Given the description of an element on the screen output the (x, y) to click on. 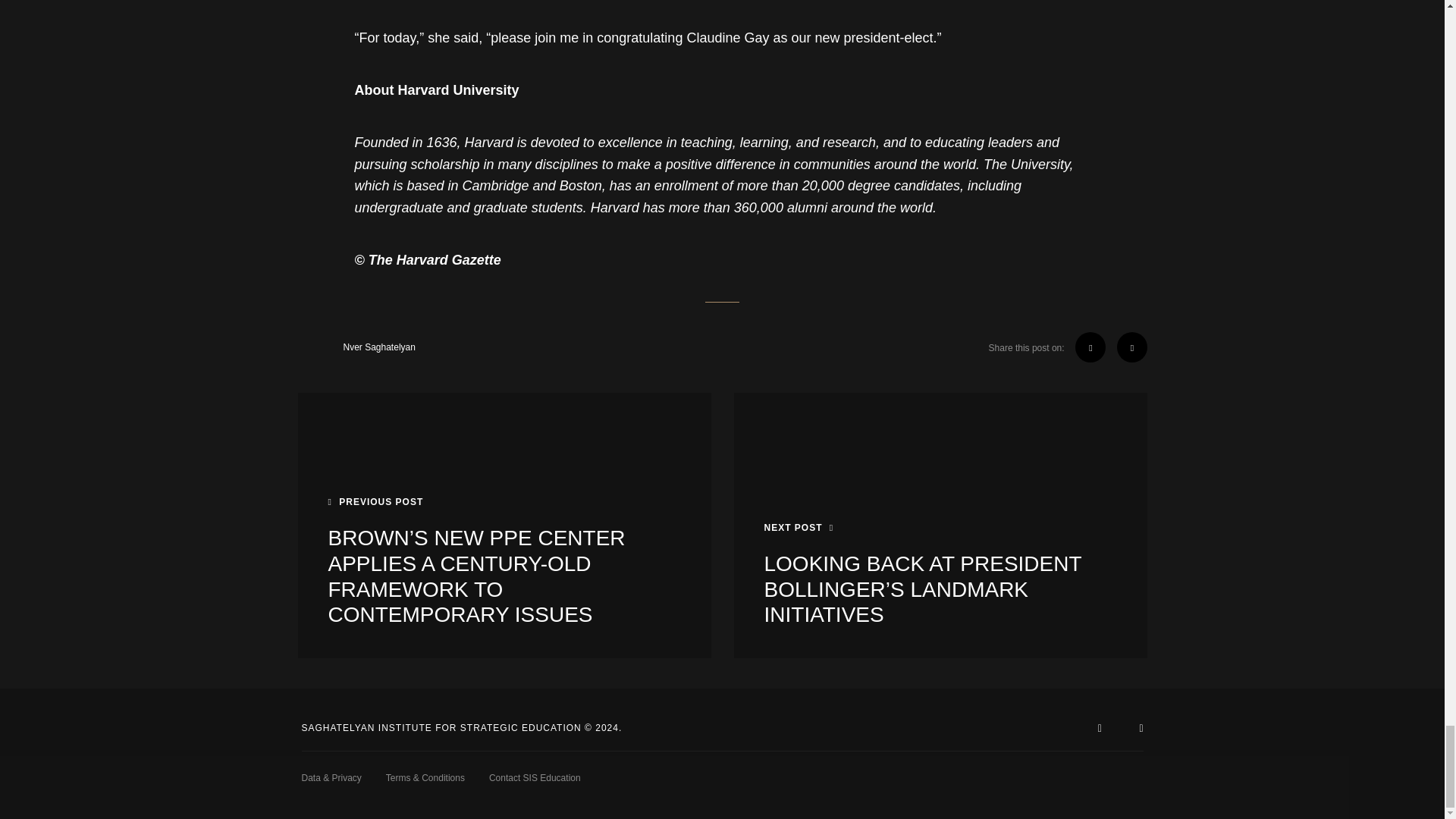
Contact SIS Education (528, 777)
Nver Saghatelyan (355, 347)
